Given the description of an element on the screen output the (x, y) to click on. 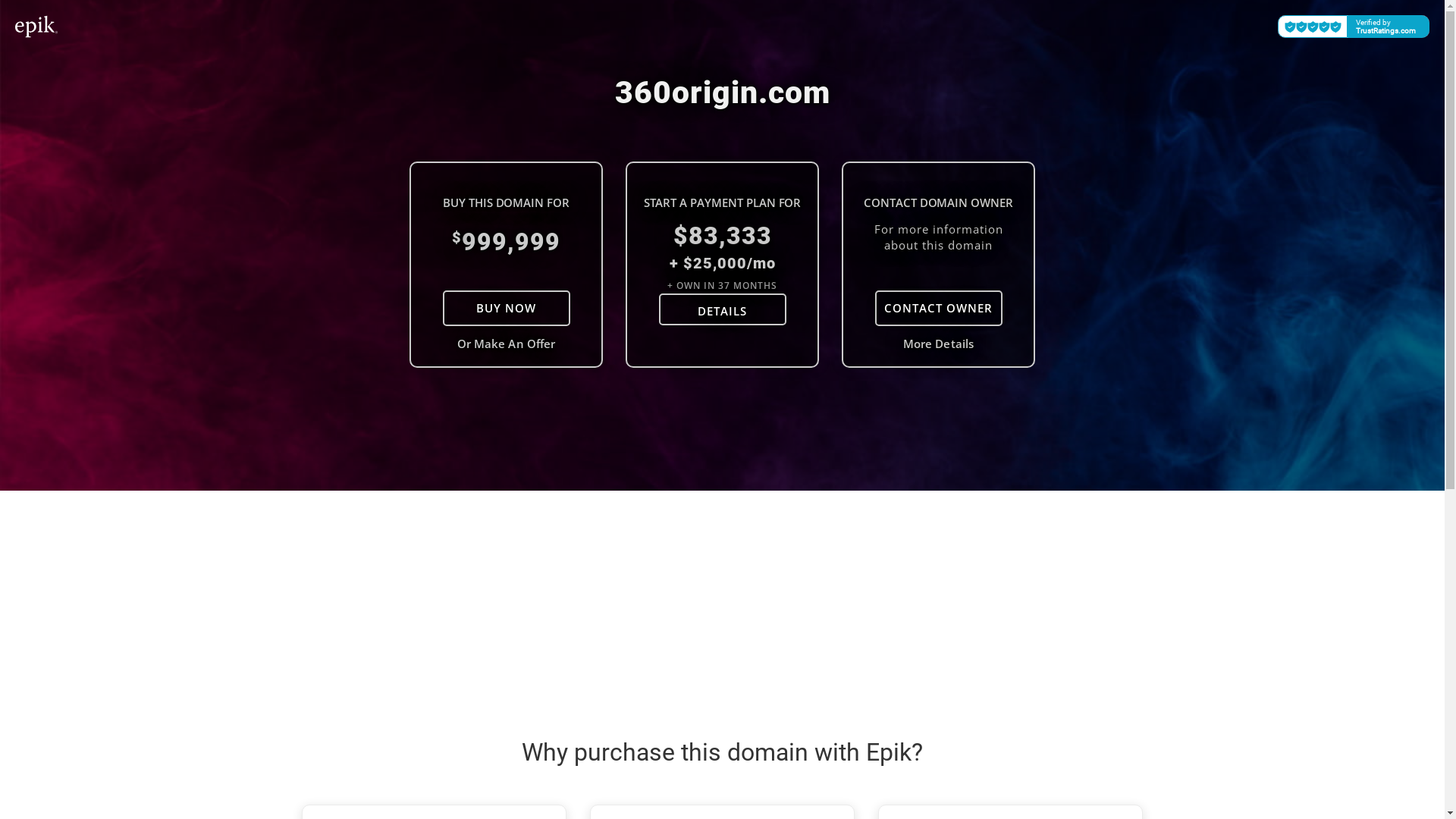
DETAILS Element type: text (721, 309)
Or Make An Offer Element type: text (505, 343)
More Details Element type: text (938, 343)
CONTACT OWNER Element type: text (938, 308)
BUY NOW Element type: text (506, 308)
Verified by TrustRatings.com Element type: hover (1353, 26)
